Given the description of an element on the screen output the (x, y) to click on. 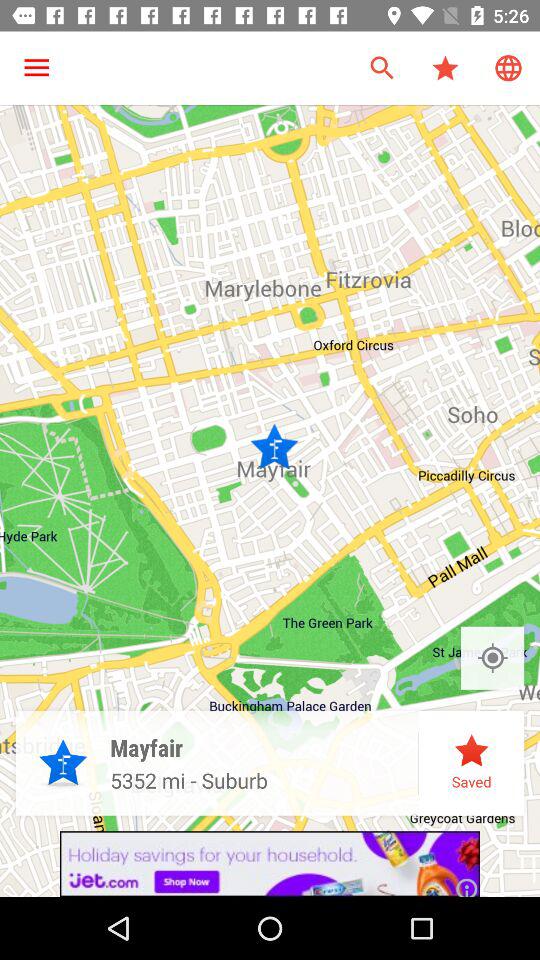
move to current location (492, 657)
